Given the description of an element on the screen output the (x, y) to click on. 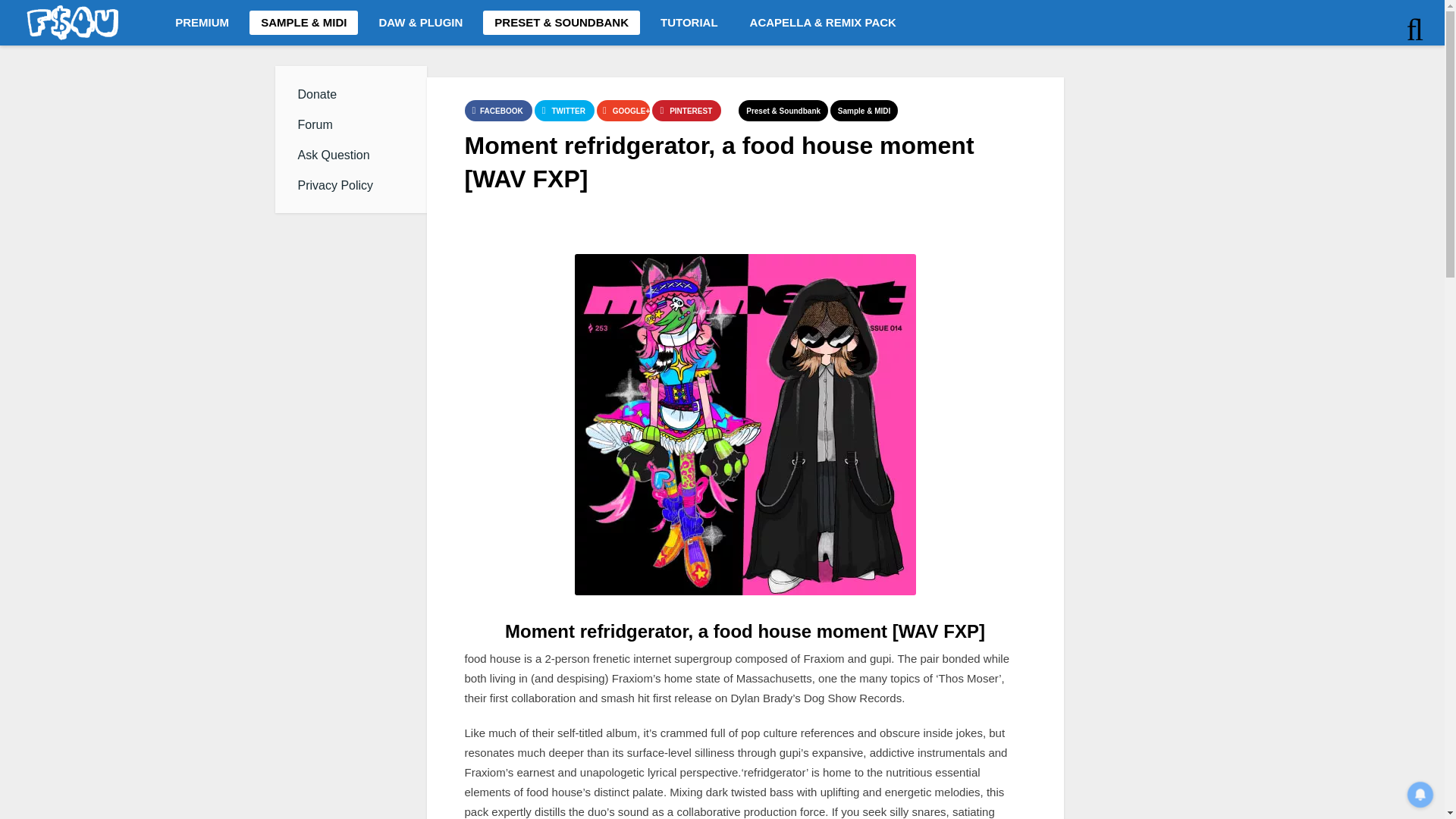
Forum (350, 125)
TWITTER (564, 110)
Donate (350, 95)
PREMIUM (201, 22)
Ask Question (350, 155)
Search (1366, 60)
TUTORIAL (689, 22)
Privacy Policy (350, 186)
FACEBOOK (497, 110)
PINTEREST (686, 110)
